Given the description of an element on the screen output the (x, y) to click on. 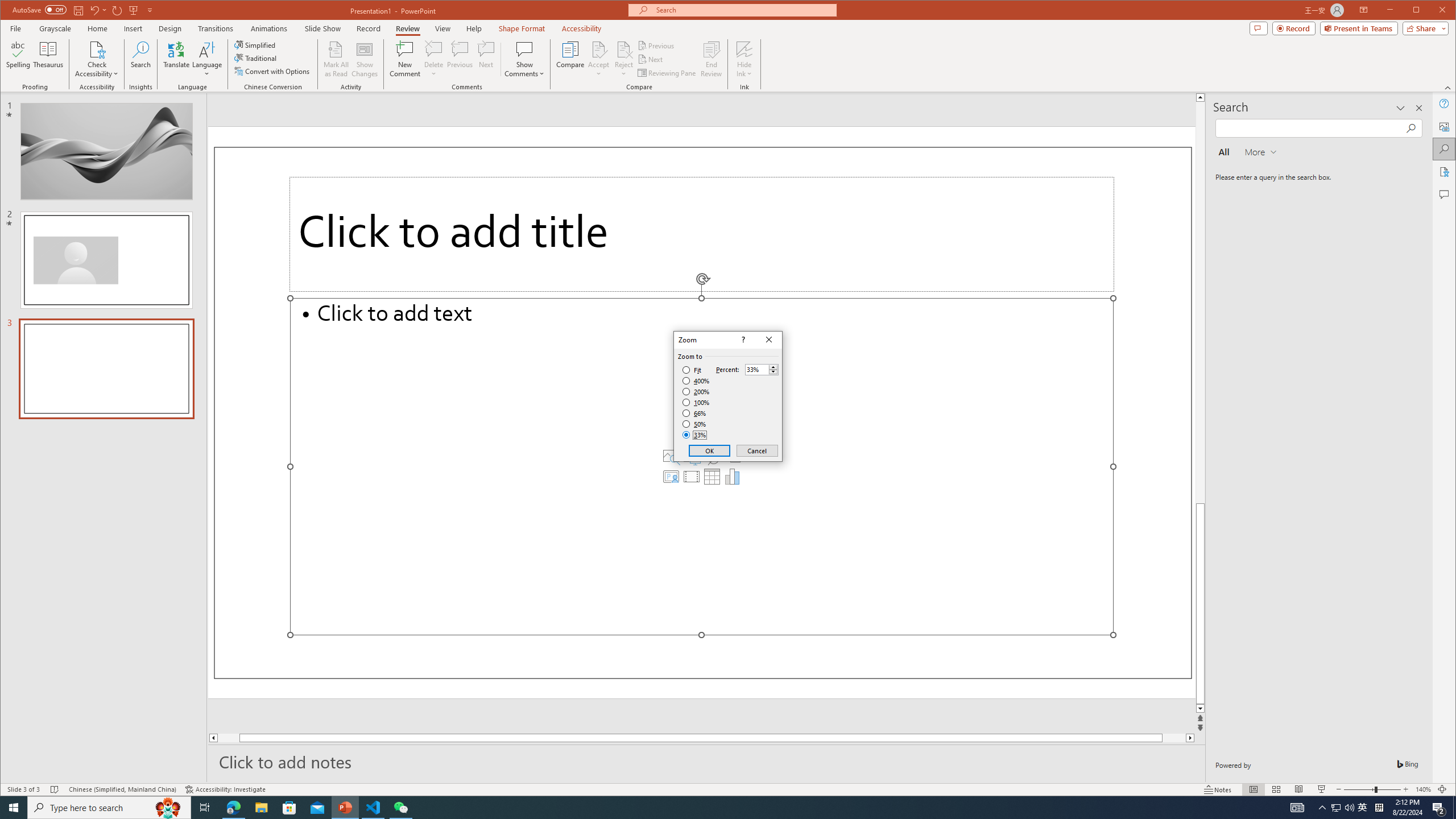
Language (207, 59)
Show Changes (365, 59)
